Given the description of an element on the screen output the (x, y) to click on. 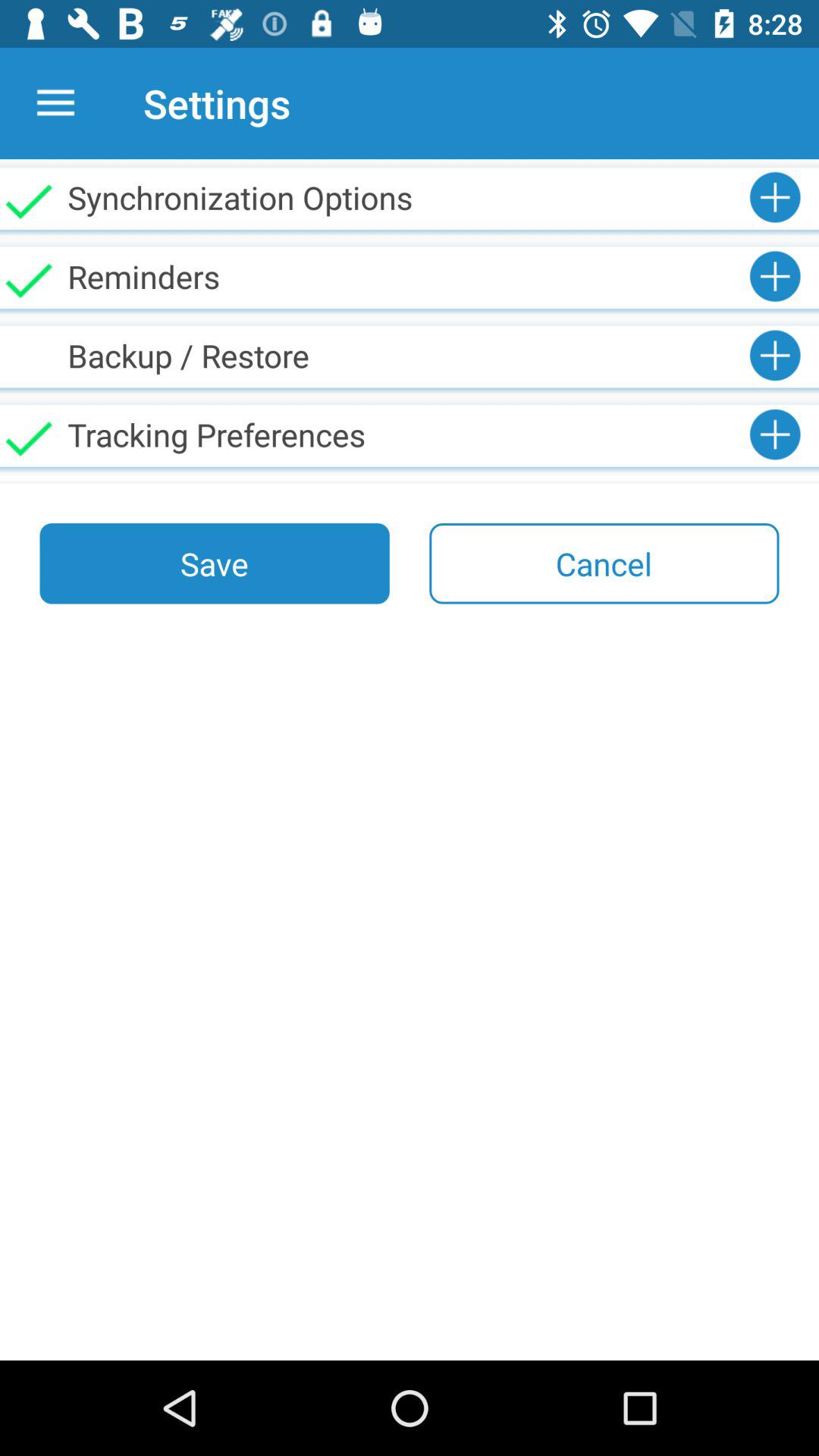
select the add button which is before reminders (775, 276)
